Given the description of an element on the screen output the (x, y) to click on. 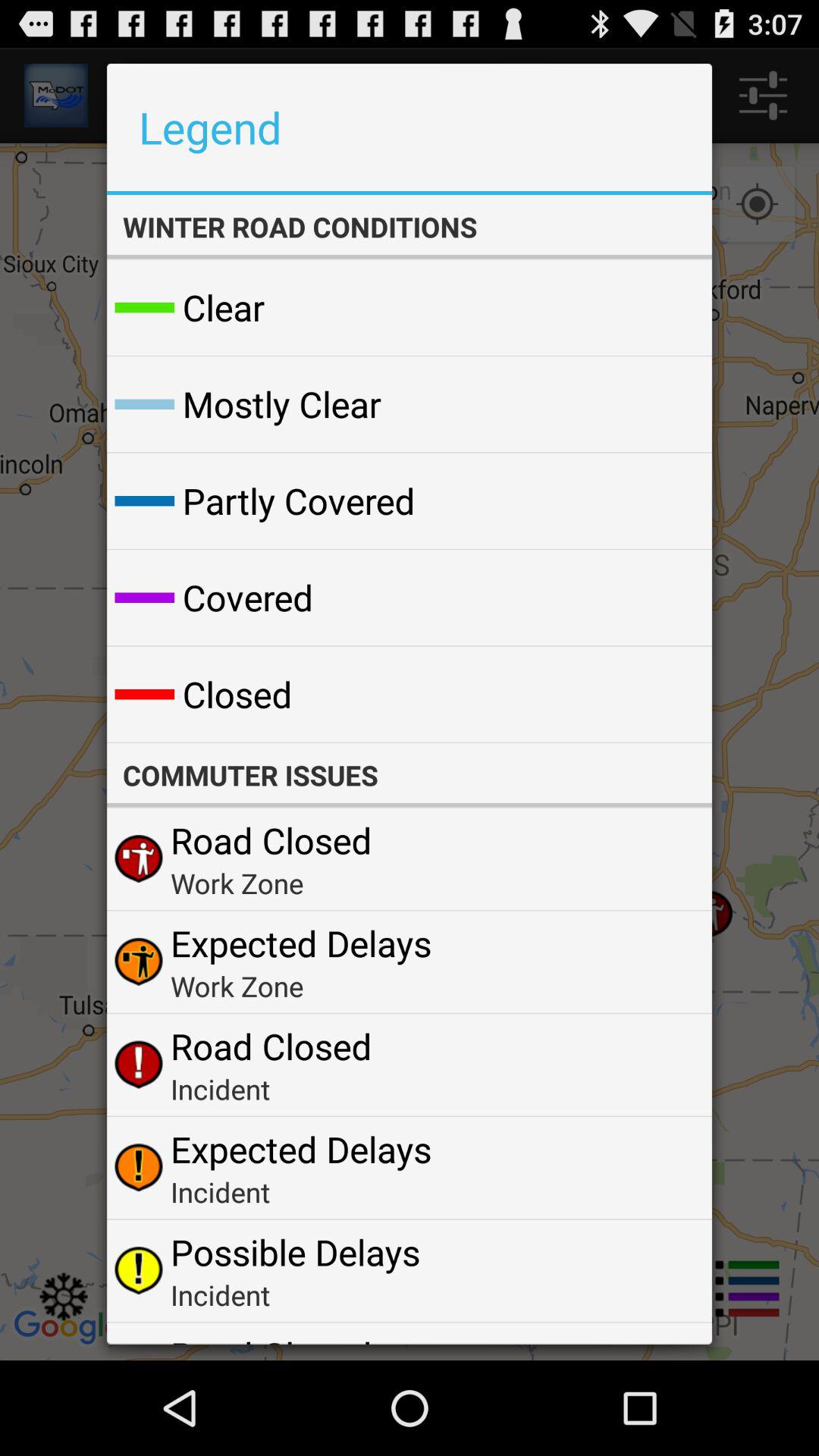
click the icon to the right of mostly clear item (664, 404)
